Given the description of an element on the screen output the (x, y) to click on. 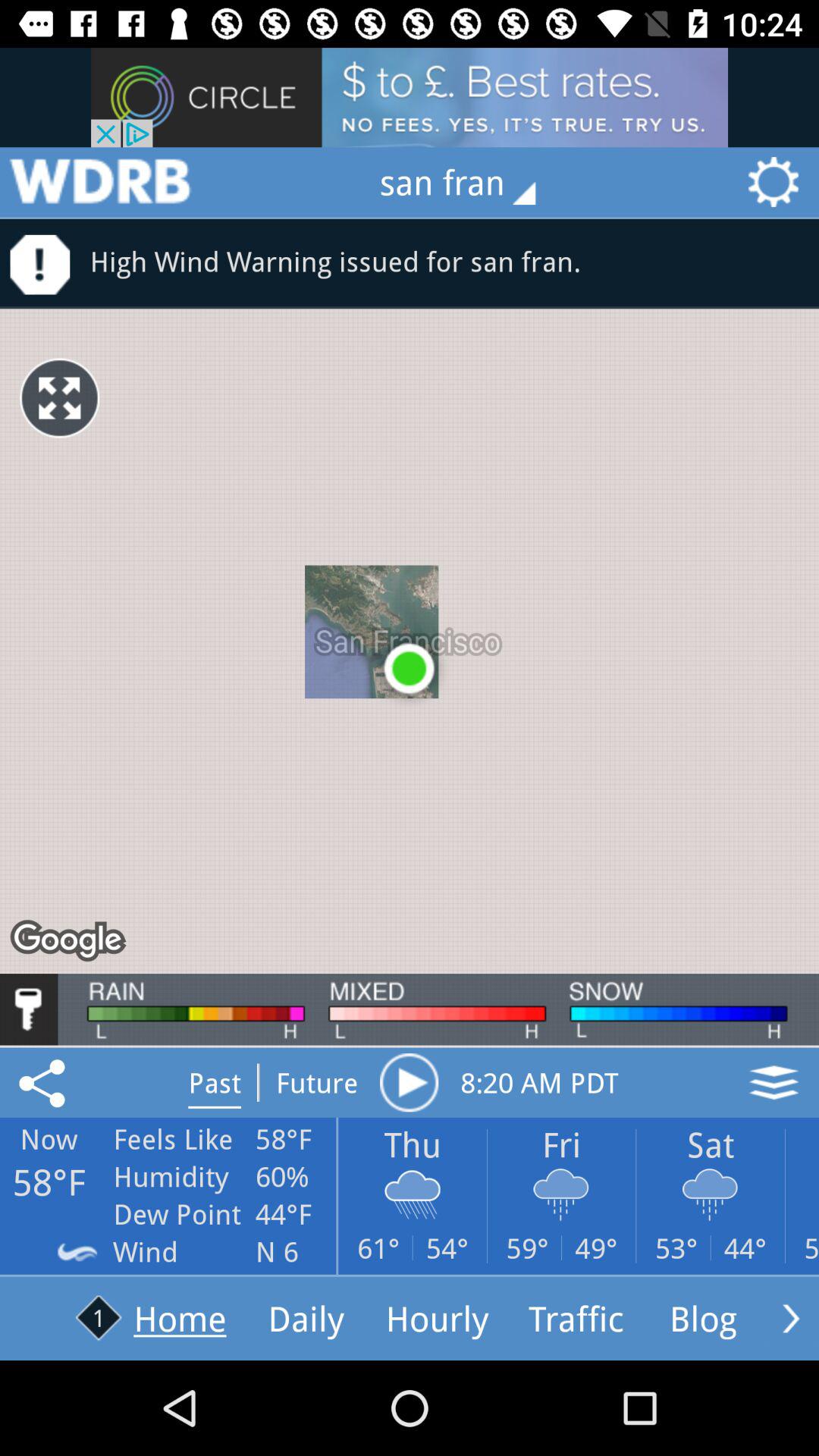
go to share (44, 1082)
